Given the description of an element on the screen output the (x, y) to click on. 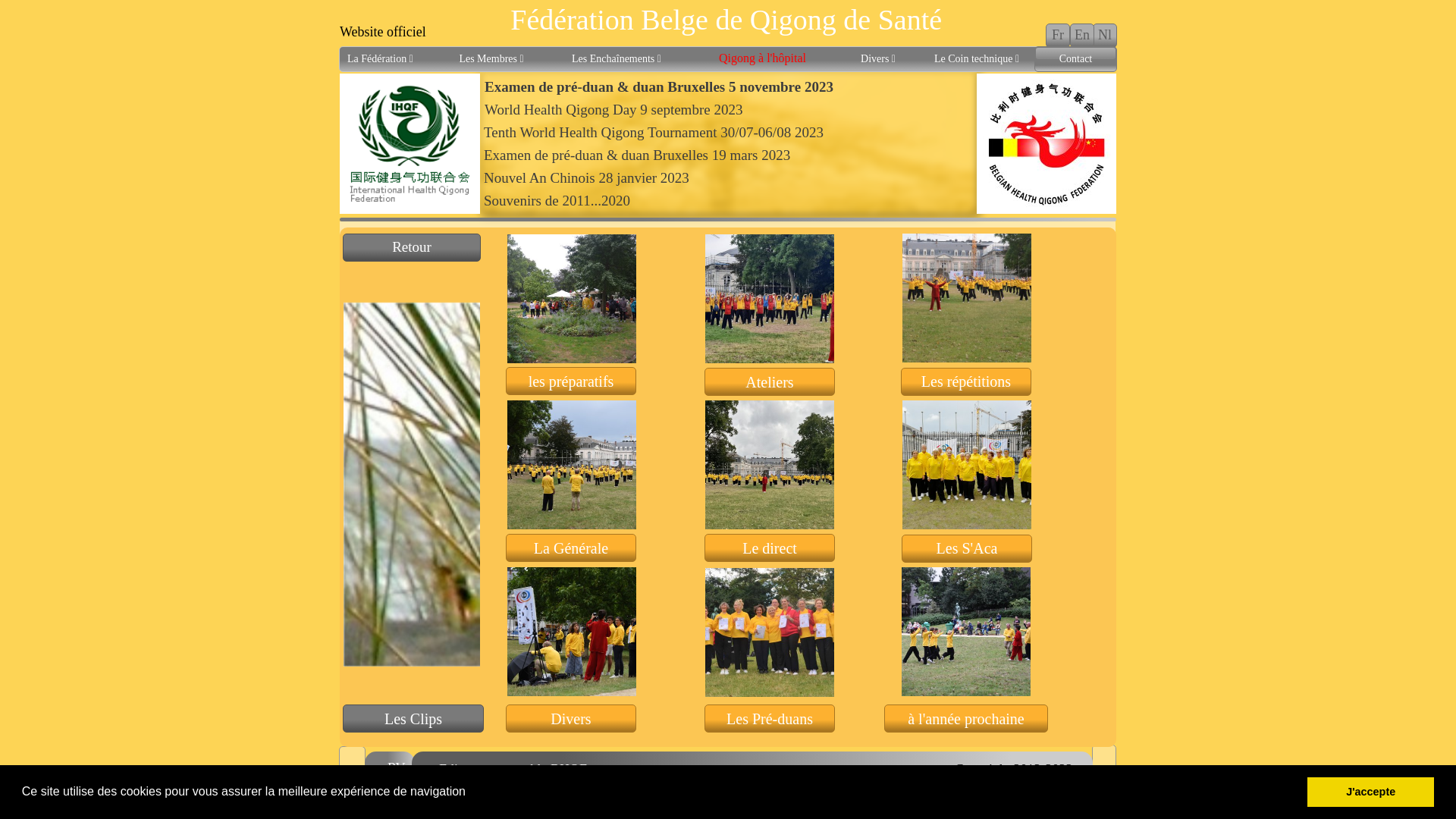
J'accepte Element type: text (1370, 791)
